Given the description of an element on the screen output the (x, y) to click on. 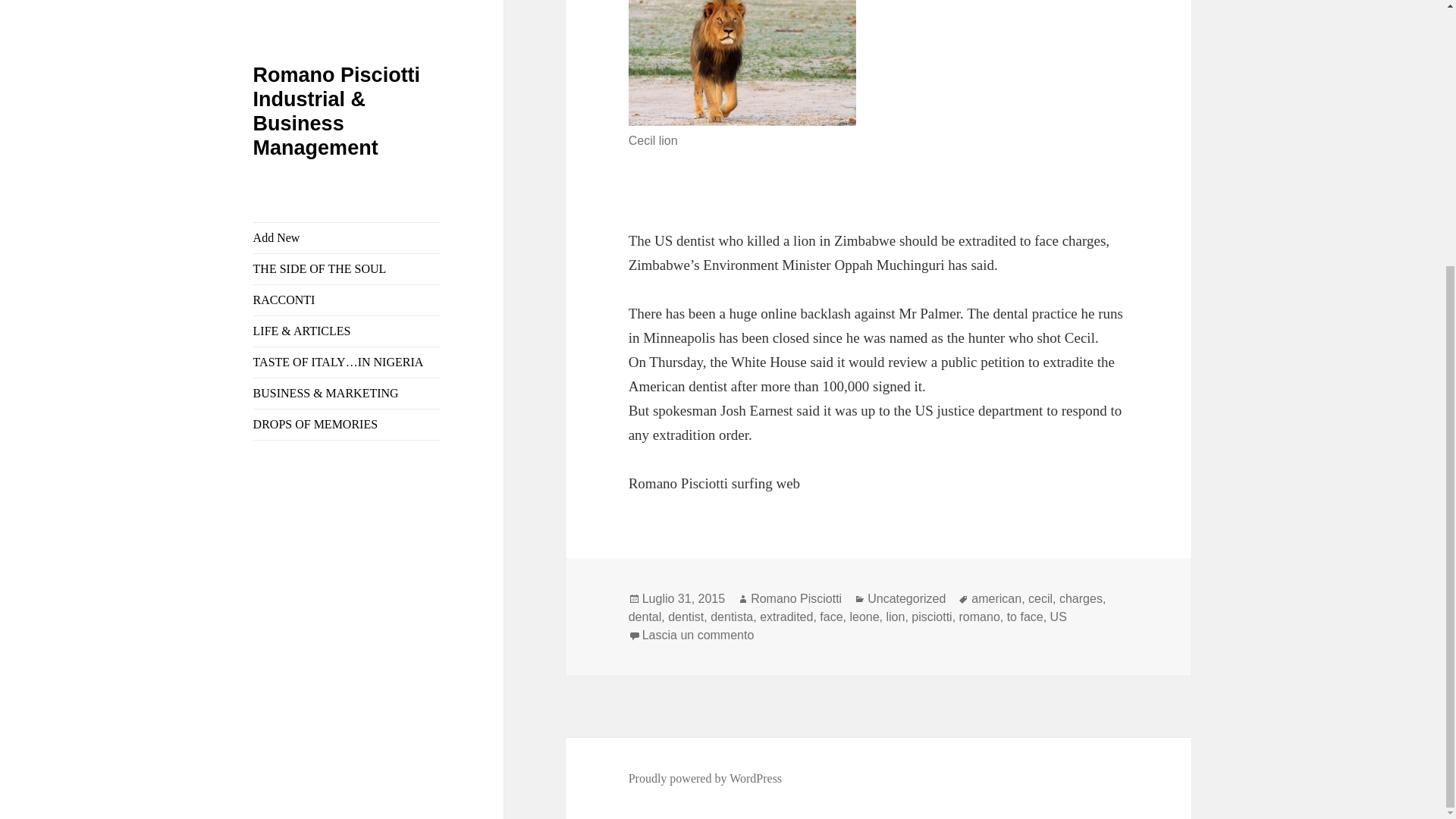
american (996, 599)
romano (979, 617)
dentista (731, 617)
dental (645, 617)
DROPS OF MEMORIES (347, 38)
US (1058, 617)
lion (894, 617)
charges (1080, 599)
Uncategorized (905, 599)
face (831, 617)
